Given the description of an element on the screen output the (x, y) to click on. 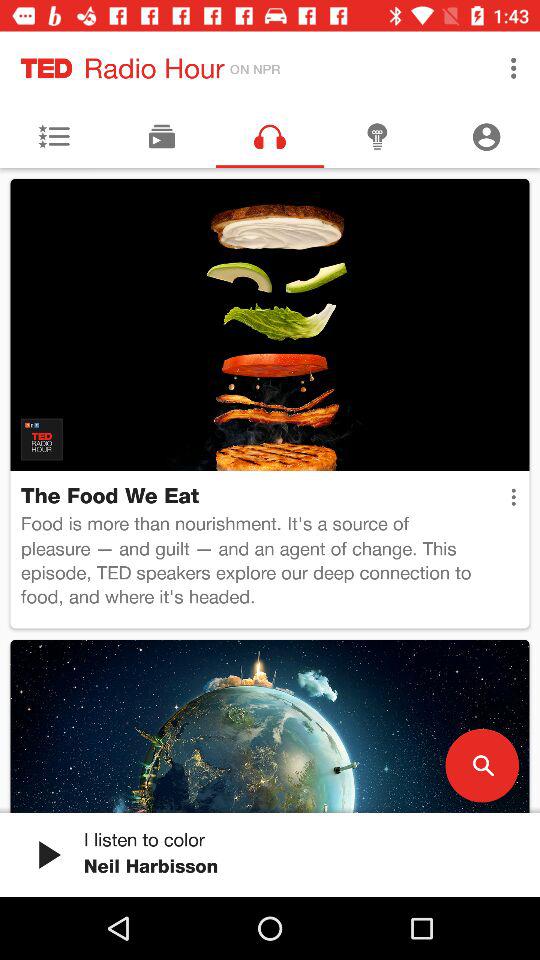
turn off the icon next to the on npr icon (513, 67)
